Given the description of an element on the screen output the (x, y) to click on. 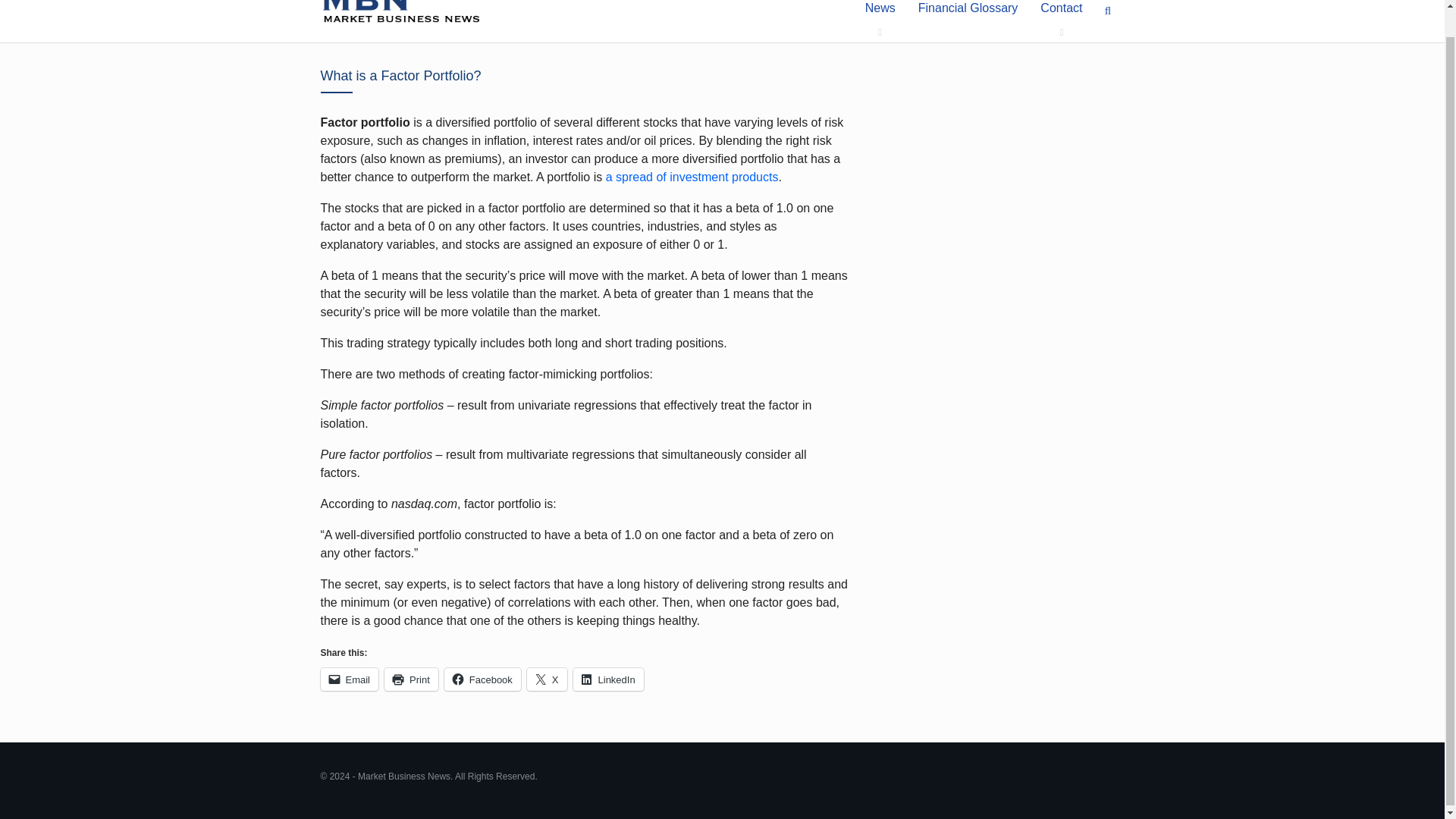
Click to share on Facebook (482, 679)
Contact (1061, 21)
Email (349, 679)
Click to share on LinkedIn (608, 679)
Click to email a link to a friend (349, 679)
a spread of investment products (691, 176)
LinkedIn (608, 679)
X (547, 679)
Click to print (411, 679)
Click to share on X (547, 679)
